Given the description of an element on the screen output the (x, y) to click on. 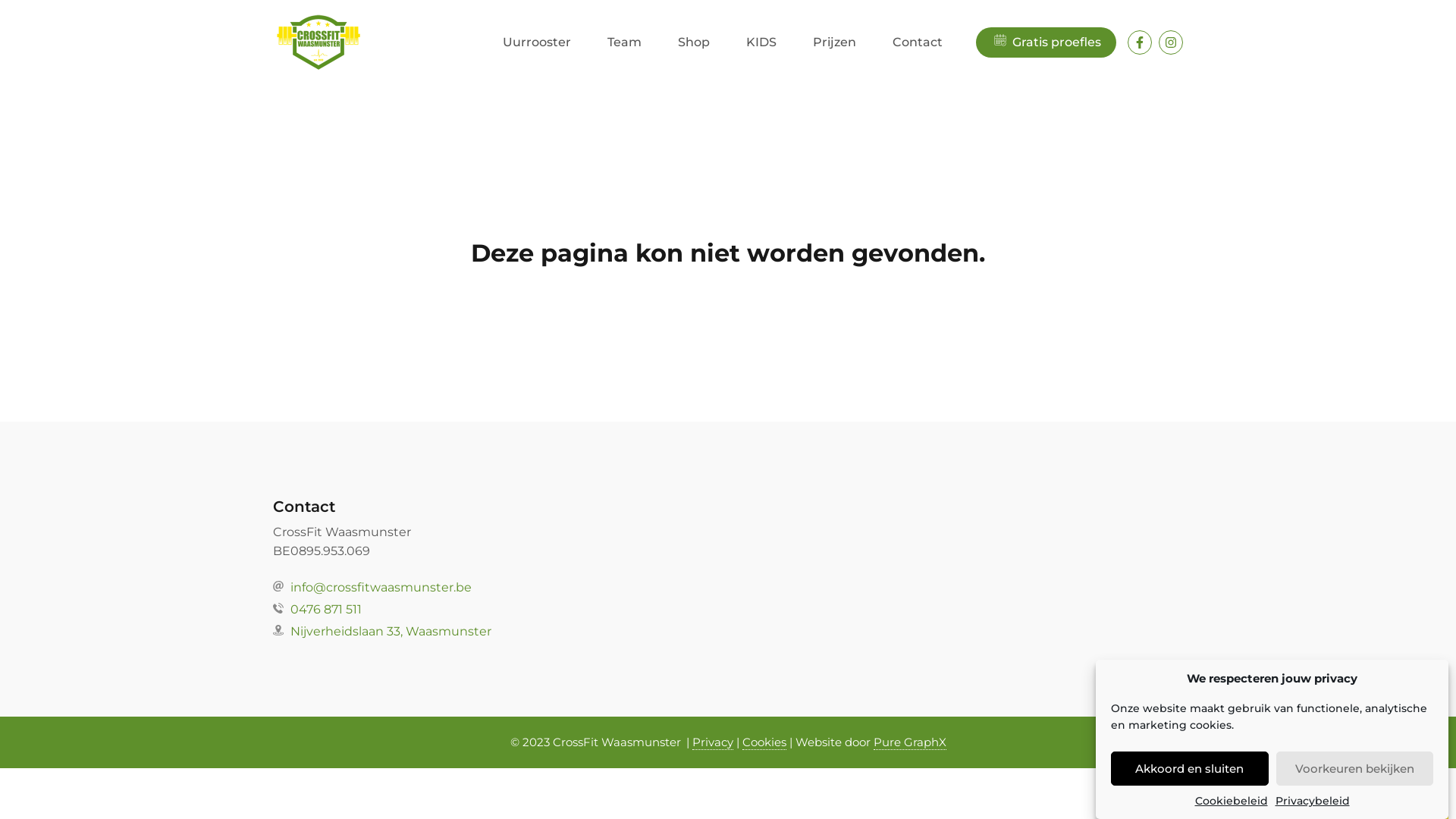
Uurrooster Element type: text (536, 42)
Contact Element type: text (917, 42)
Prijzen Element type: text (834, 42)
Gratis proefles Element type: text (1045, 42)
Voorkeuren bekijken Element type: text (1354, 769)
Privacy Element type: text (711, 741)
KIDS Element type: text (761, 42)
Cookies Element type: text (763, 741)
Privacybeleid Element type: text (1312, 800)
Pure GraphX Element type: text (909, 741)
0476 871 511 Element type: text (728, 609)
Team Element type: text (624, 42)
Cookiebeleid Element type: text (1231, 800)
Akkoord en sluiten Element type: text (1189, 769)
info@crossfitwaasmunster.be Element type: text (728, 587)
Shop Element type: text (693, 42)
Nijverheidslaan 33, Waasmunster Element type: text (728, 631)
